Given the description of an element on the screen output the (x, y) to click on. 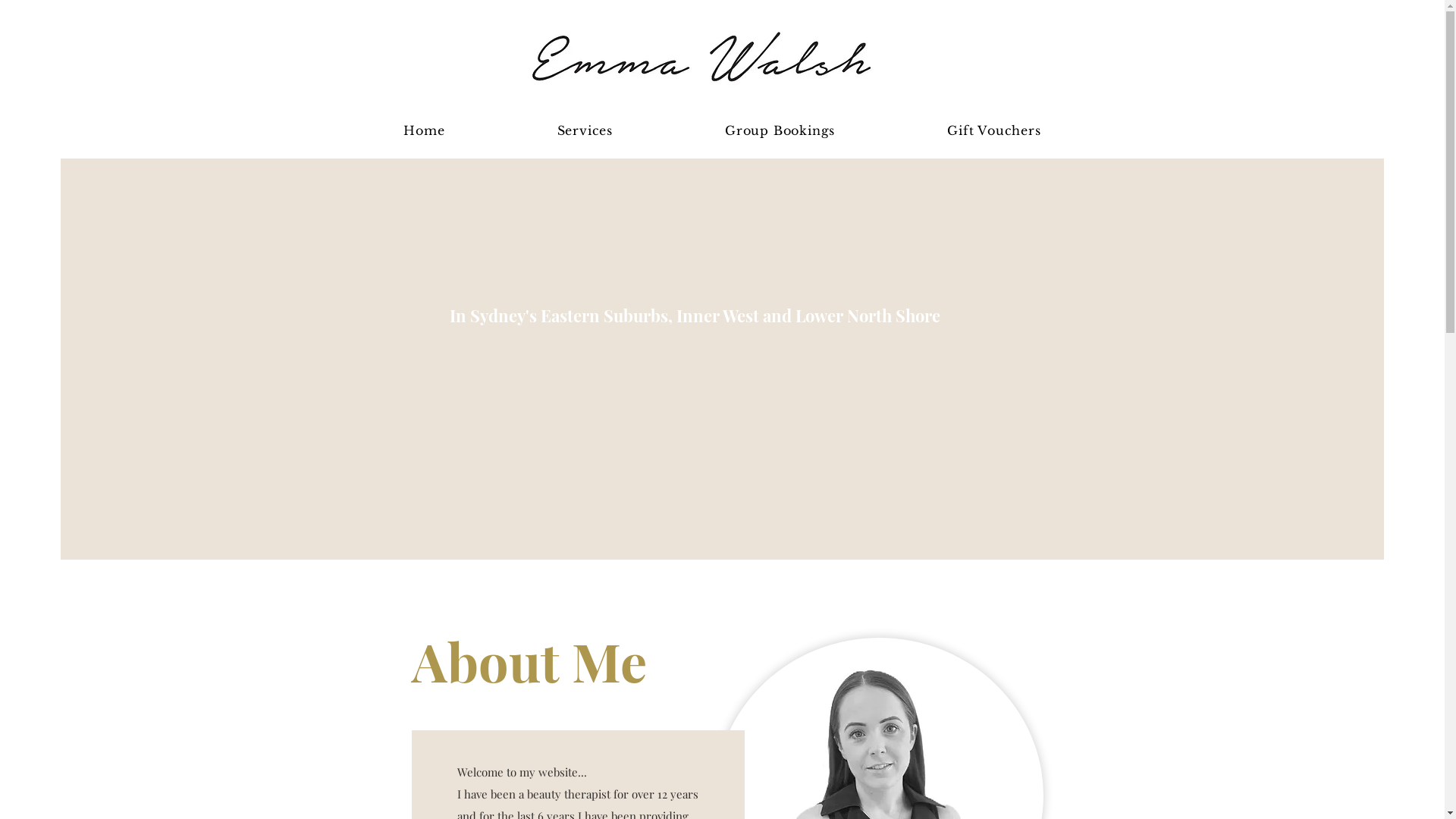
Services Element type: text (584, 130)
Home Element type: text (423, 130)
Gift Vouchers Element type: text (993, 130)
Group Bookings Element type: text (779, 130)
